Given the description of an element on the screen output the (x, y) to click on. 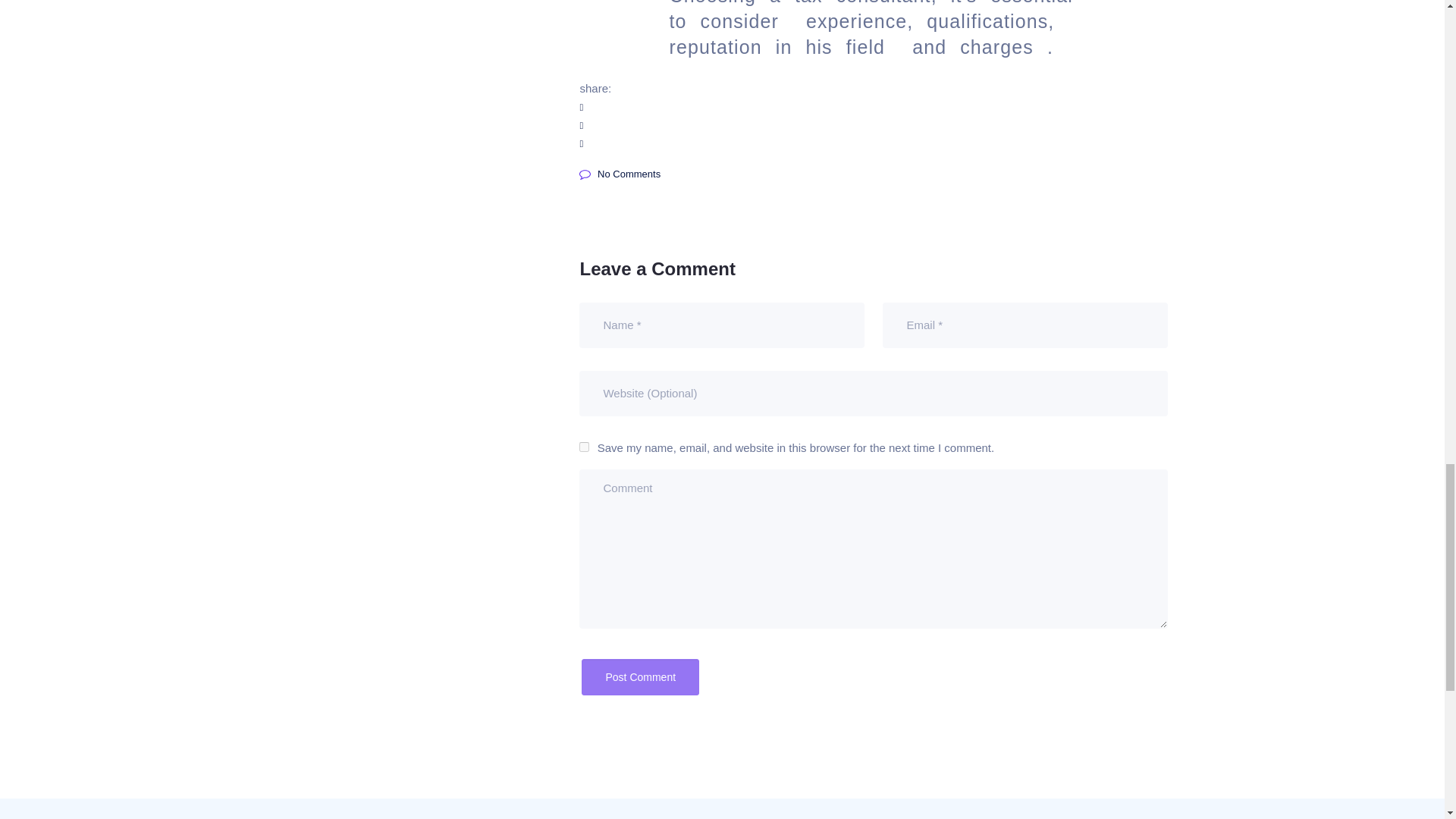
Post Comment (639, 677)
Post Comment (639, 677)
No Comments (620, 173)
yes (584, 447)
